Given the description of an element on the screen output the (x, y) to click on. 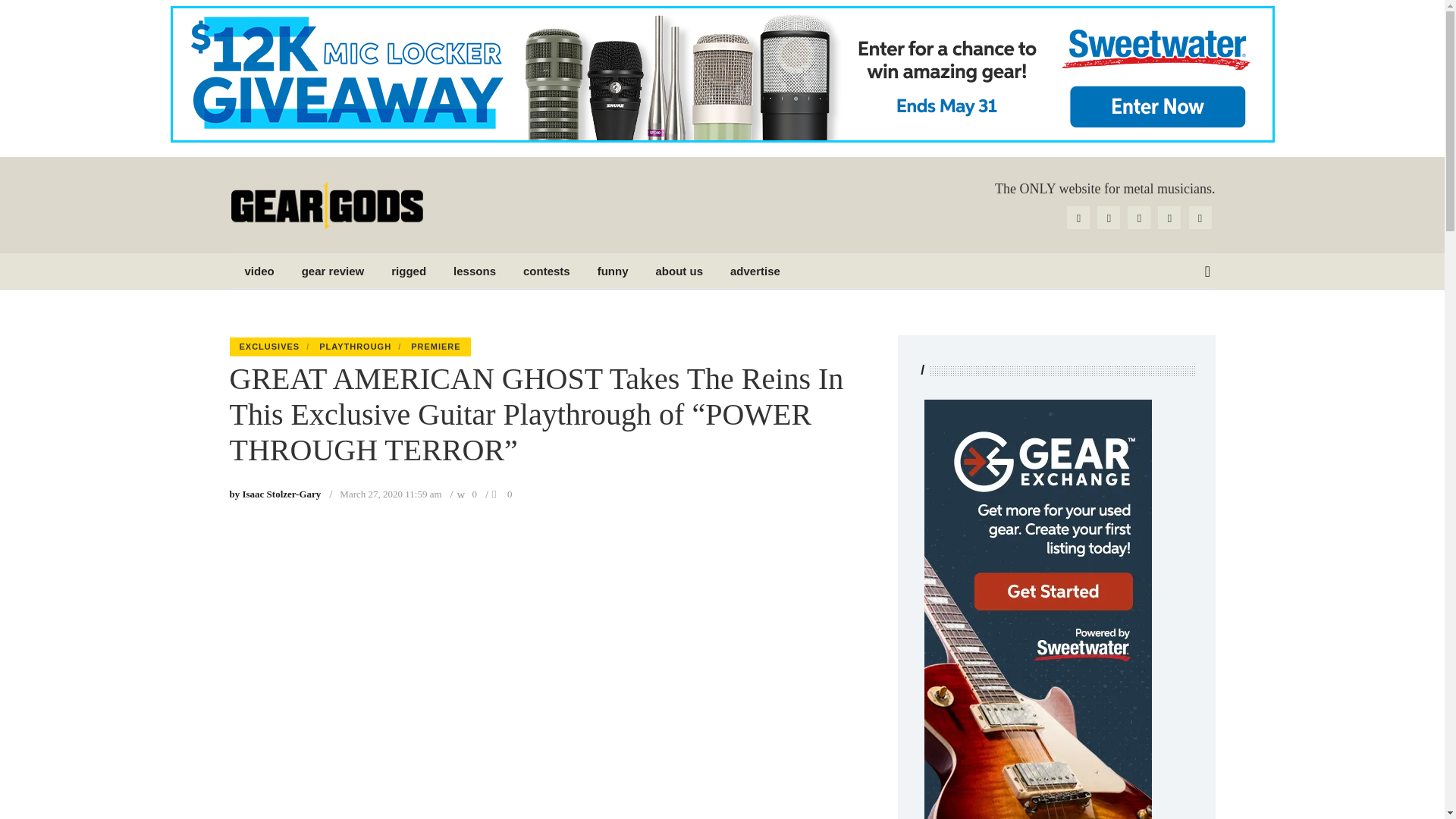
Like this (509, 493)
video (259, 270)
